Given the description of an element on the screen output the (x, y) to click on. 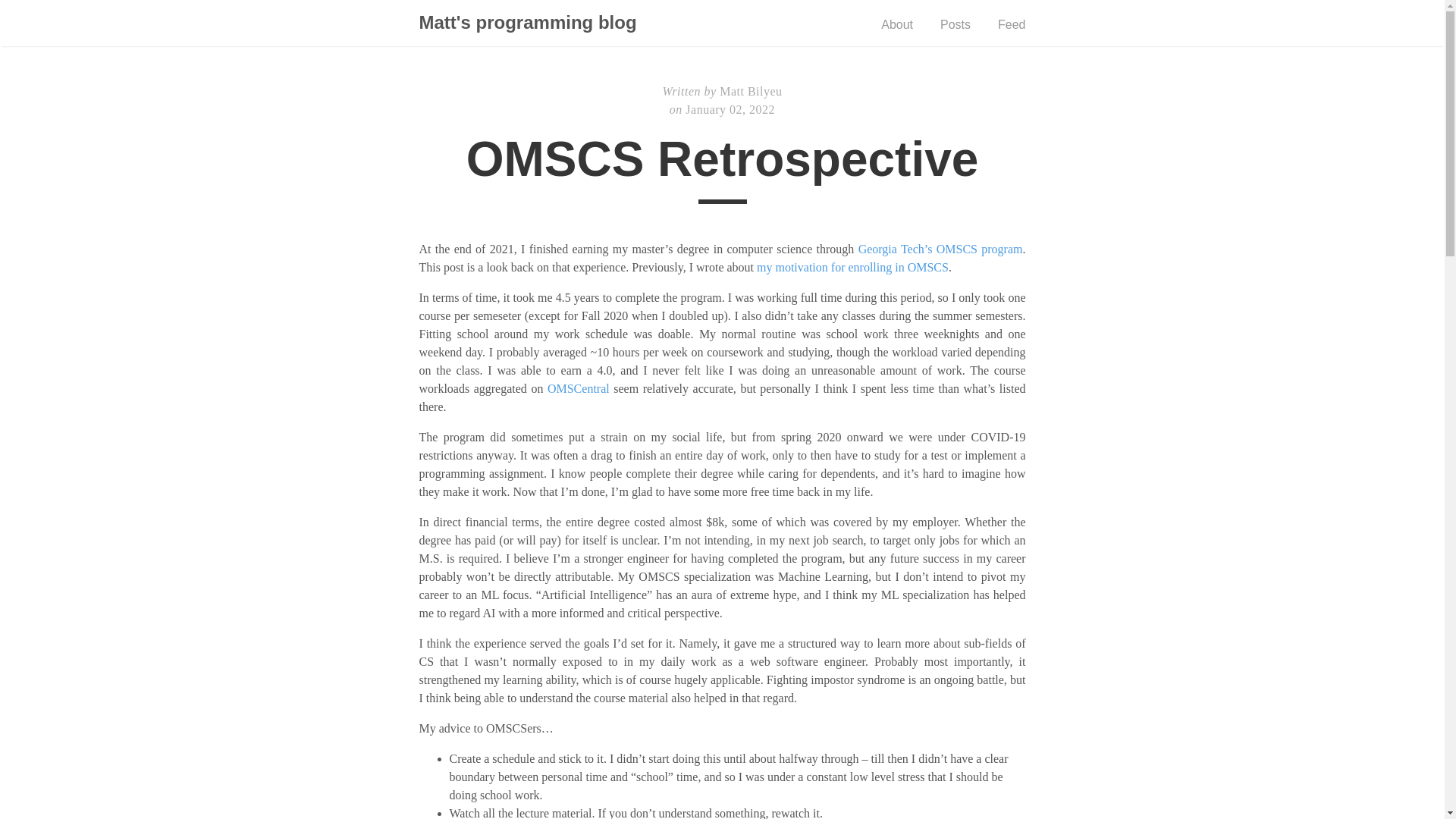
OMSCentral (578, 388)
Matt's programming blog (529, 24)
my motivation for enrolling in OMSCS (853, 267)
About (896, 24)
Feed (1011, 24)
Posts (955, 24)
